Given the description of an element on the screen output the (x, y) to click on. 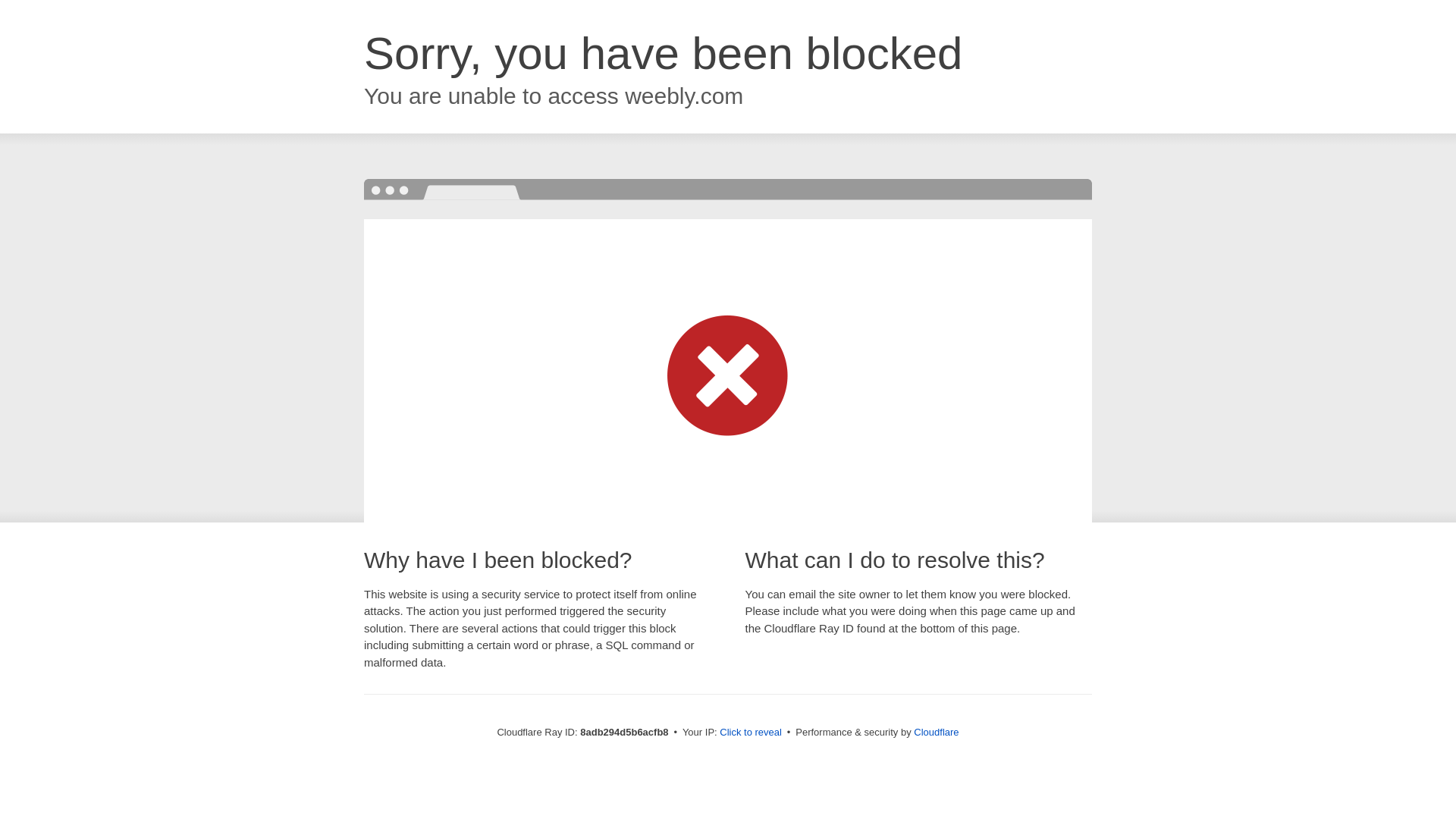
Click to reveal (750, 732)
Cloudflare (936, 731)
